Given the description of an element on the screen output the (x, y) to click on. 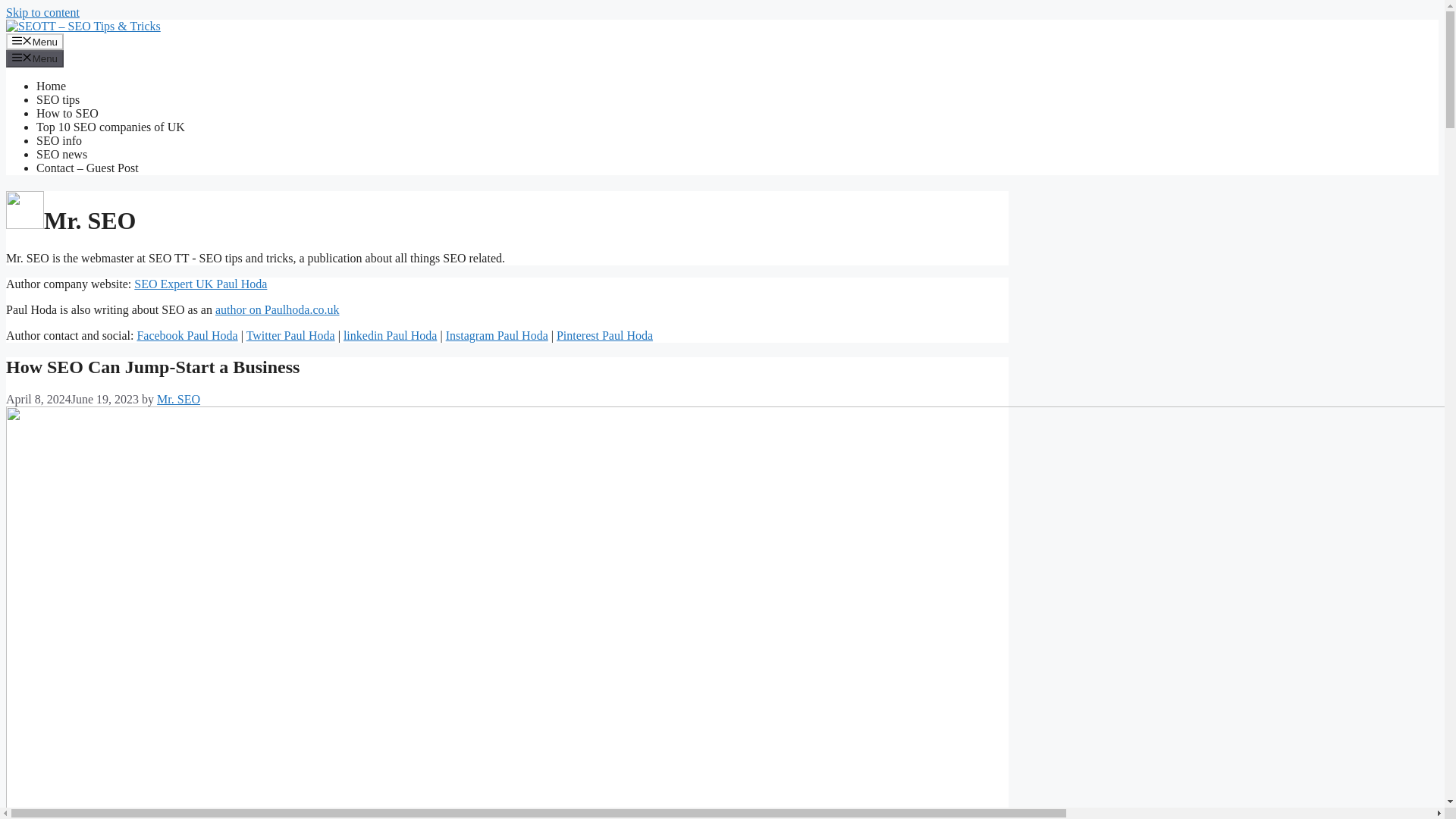
Top 10 SEO companies of UK (110, 126)
Menu (34, 57)
Home (50, 85)
Twitter Paul Hoda (290, 335)
Mr. SEO (178, 399)
author on Paulhoda.co.uk (277, 309)
Menu (34, 41)
Facebook Paul Hoda (186, 335)
SEO tips (58, 99)
How SEO Can Jump-Start a Business (152, 366)
SEO Expert UK Paul Hoda (199, 283)
How to SEO (67, 113)
Instagram Paul Hoda (496, 335)
SEO info (58, 140)
SEO news (61, 154)
